Given the description of an element on the screen output the (x, y) to click on. 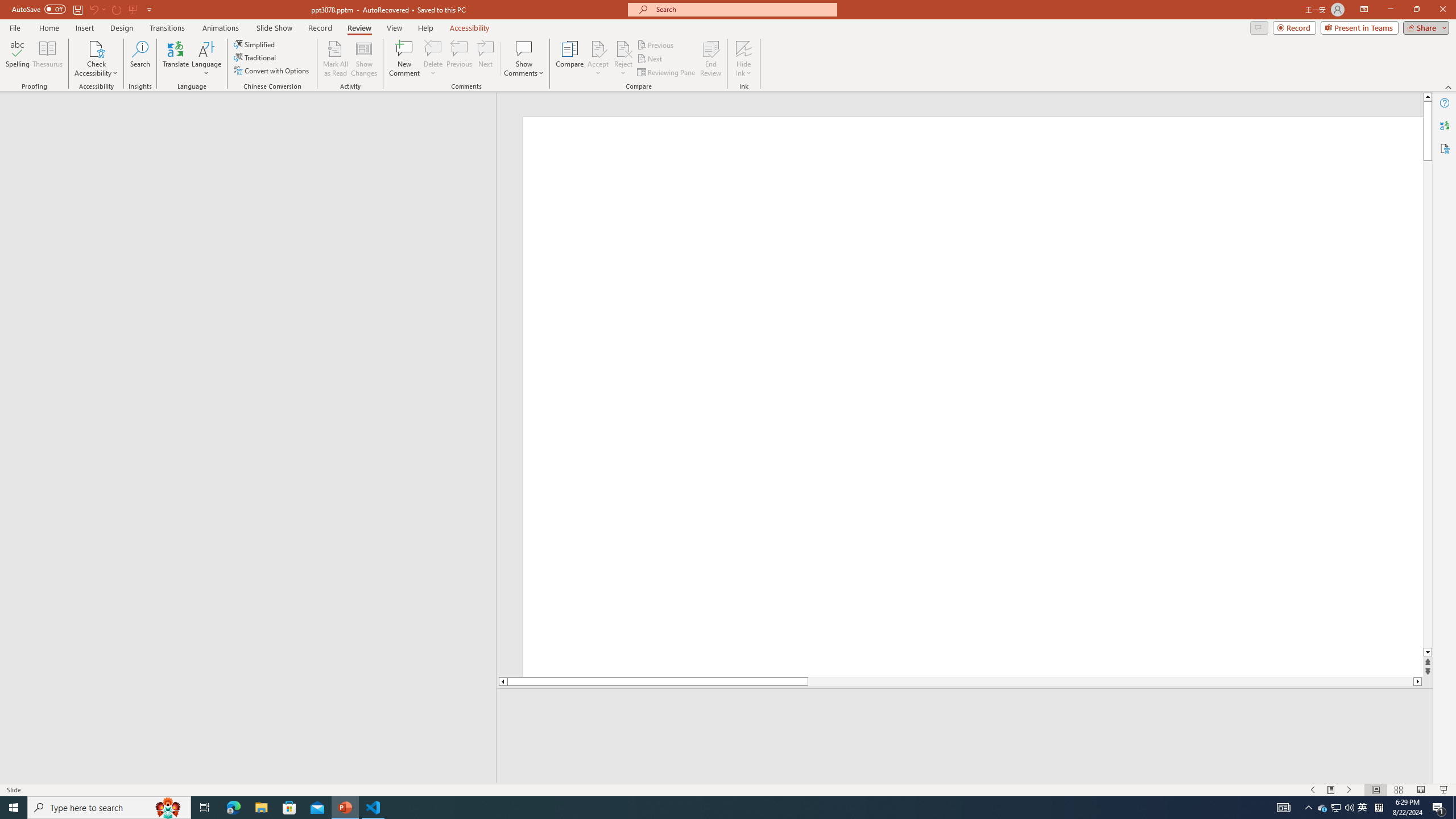
Accept Change (598, 48)
Simplified (254, 44)
Mark All as Read (335, 58)
Outline (252, 114)
